Given the description of an element on the screen output the (x, y) to click on. 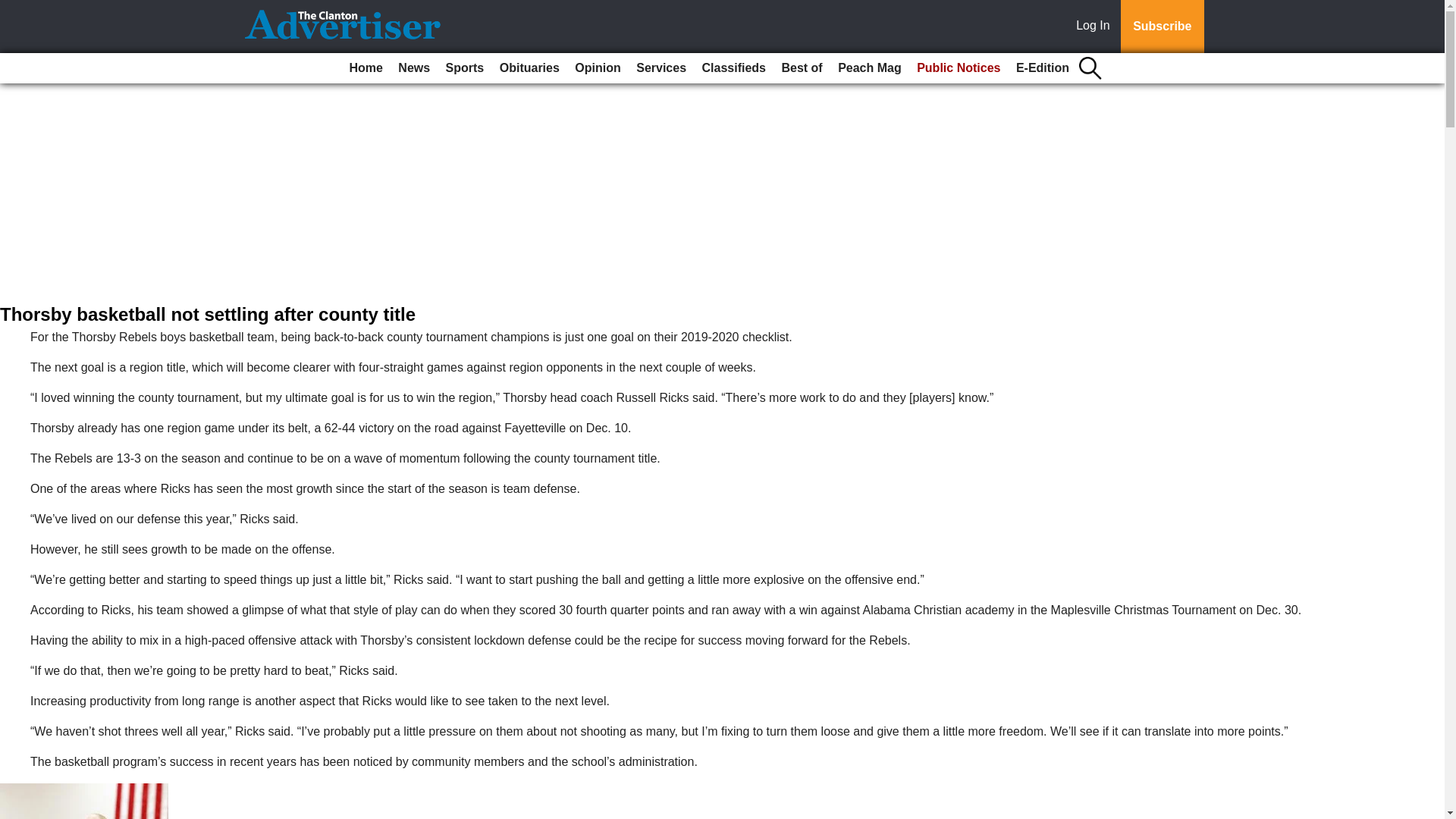
Best of (801, 68)
Sports (464, 68)
Go (13, 9)
Obituaries (529, 68)
Home (365, 68)
Log In (1095, 26)
Services (661, 68)
E-Edition (1042, 68)
Opinion (597, 68)
News (413, 68)
